Given the description of an element on the screen output the (x, y) to click on. 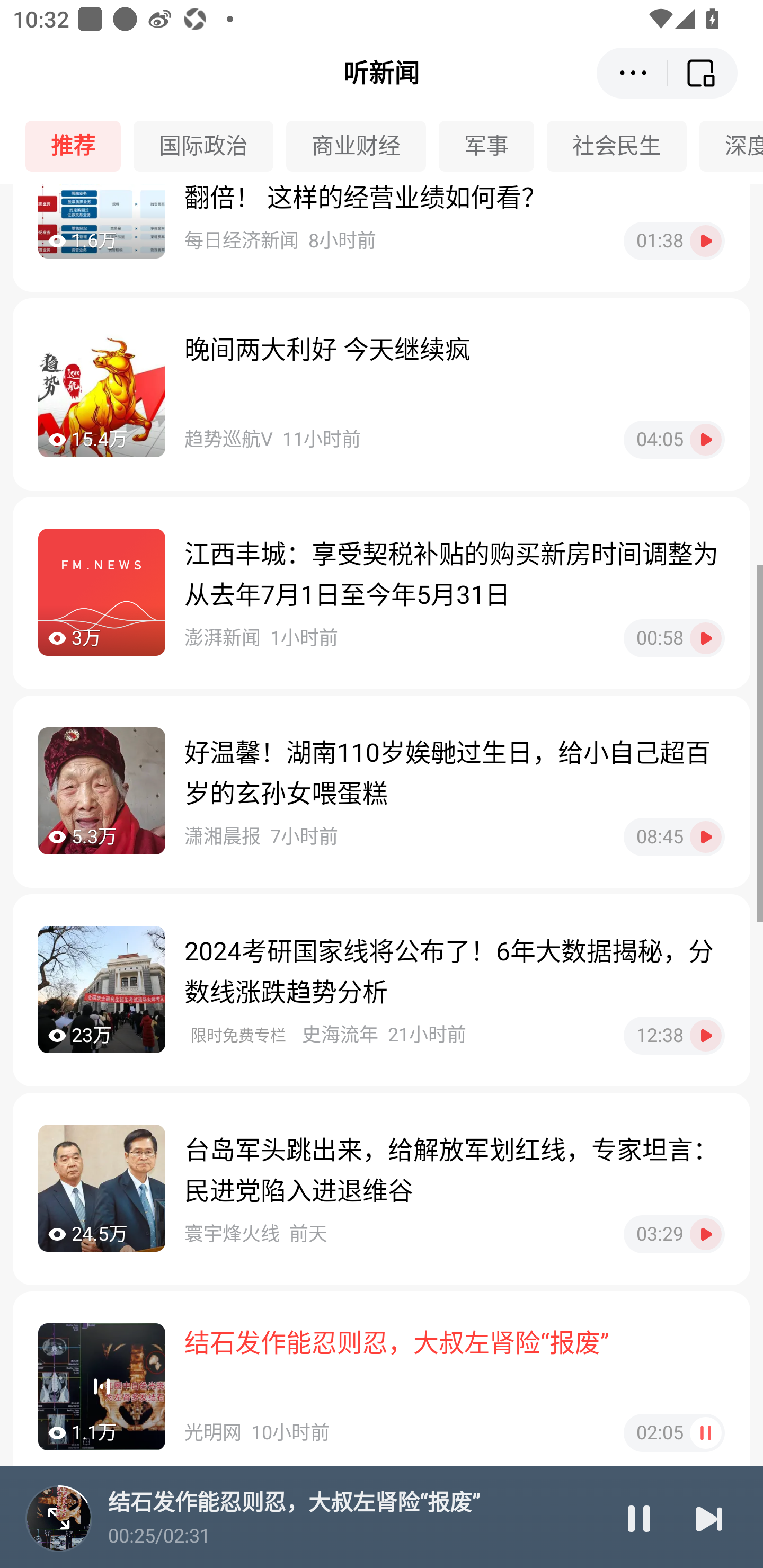
更多 (631, 72)
返回 (702, 72)
推荐 (79, 146)
国际政治 (209, 146)
商业财经 (362, 146)
军事 (492, 146)
社会民生 (623, 146)
01:38 (673, 241)
15.4万 晚间两大利好 今天继续疯 趋势巡航V11小时前 04:05 (381, 393)
04:05 (673, 439)
00:58 (673, 637)
5.3万 好温馨！湖南110岁娭毑过生日，给小自己超百岁的玄孙女喂蛋糕 潇湘晨报7小时前 08:45 (381, 791)
08:45 (673, 837)
12:38 (673, 1035)
24.5万 台岛军头跳出来，给解放军划红线，专家坦言：民进党陷入进退维谷 寰宇烽火线前天 03:29 (381, 1188)
03:29 (673, 1233)
1.1万 结石发作能忍则忍，大叔左肾险“报废” 光明网10小时前 02:05 (381, 1387)
02:05 (673, 1432)
音频播放页 结石发作能忍则忍，大叔左肾险“报废” 00:24/02:31 暂停 下一篇 (381, 1517)
暂停 (638, 1518)
下一篇 (708, 1518)
